Given the description of an element on the screen output the (x, y) to click on. 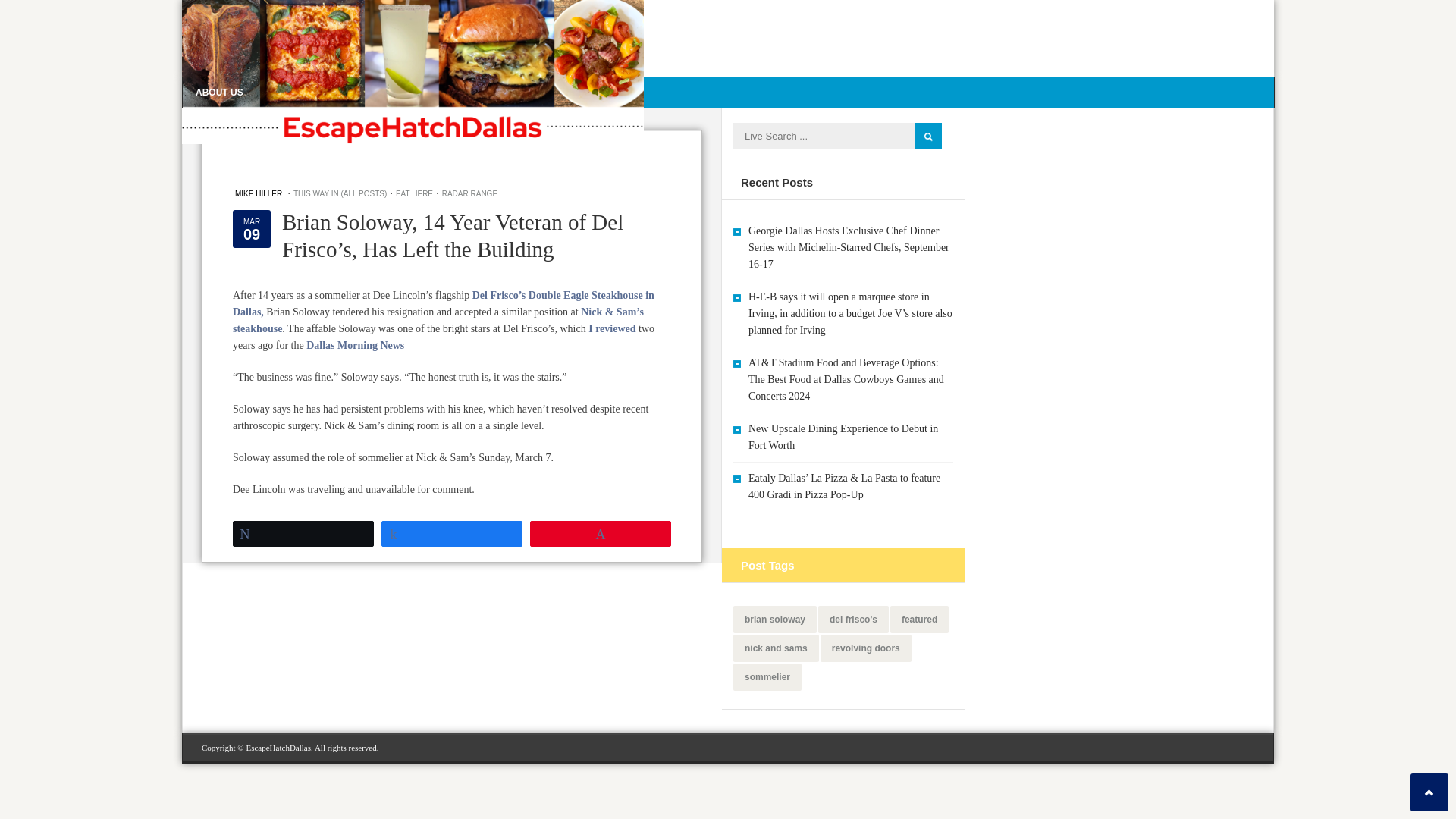
Posts by Mike Hiller (258, 193)
RADAR RANGE (469, 193)
ABOUT US (219, 91)
Search (928, 135)
del frisco's (853, 619)
EAT HERE (414, 193)
I reviewed (611, 328)
Search (928, 135)
nick and sams (775, 647)
Dallas Morning News (354, 345)
